Given the description of an element on the screen output the (x, y) to click on. 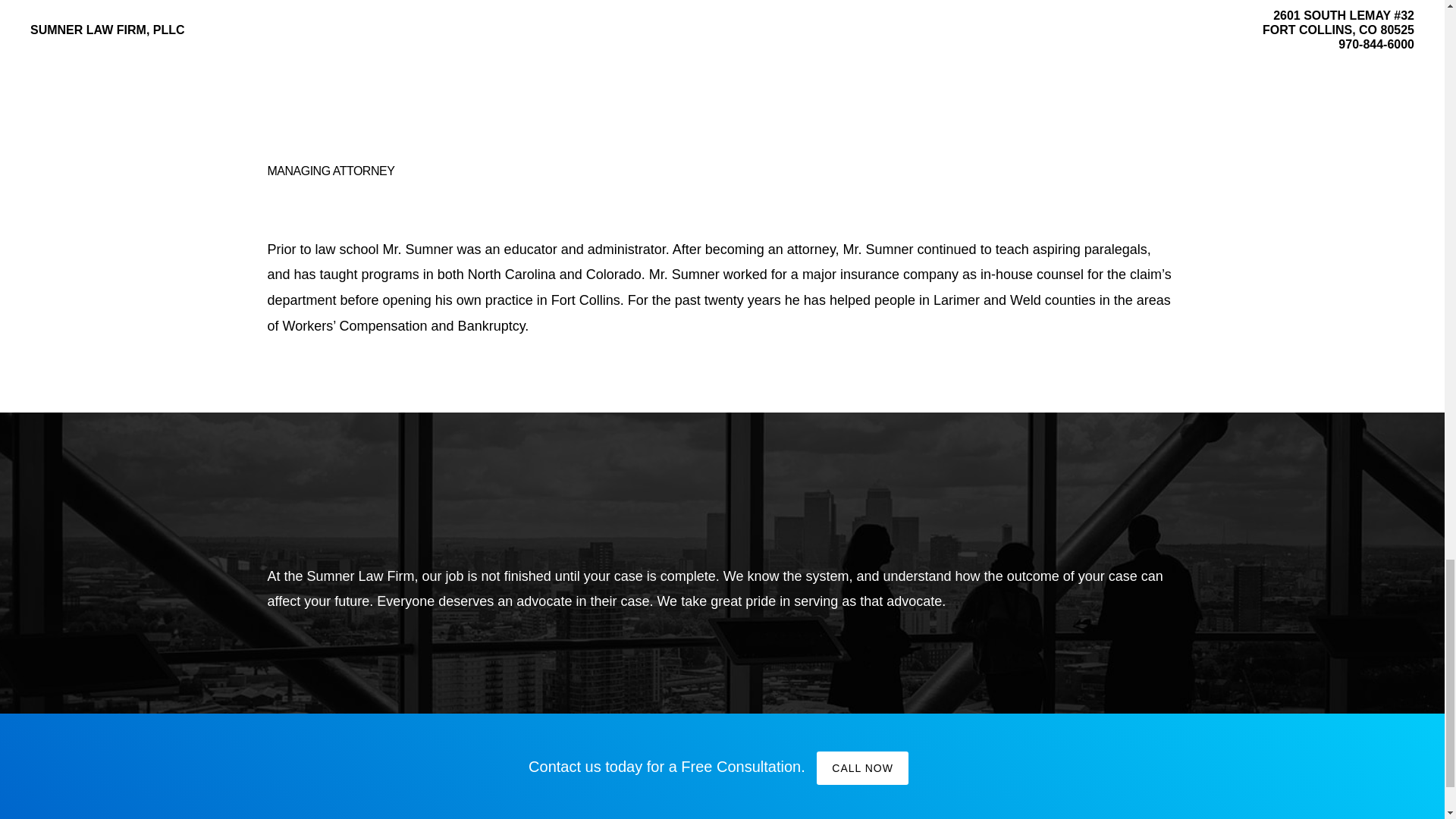
CALL NOW (862, 767)
